Given the description of an element on the screen output the (x, y) to click on. 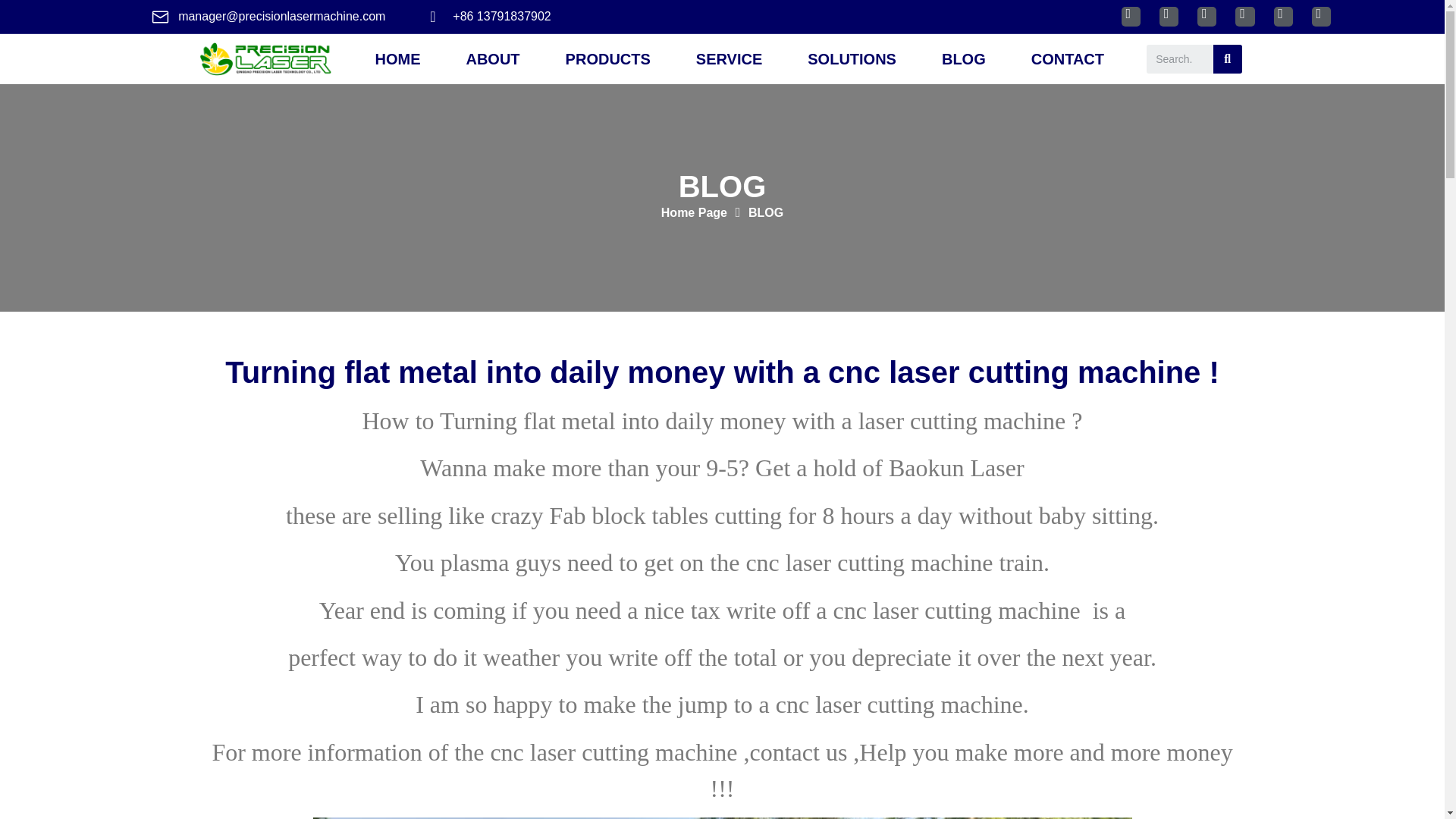
HOME (397, 58)
CONTACT (1067, 58)
ABOUT (491, 58)
Search (1179, 59)
Home Page (693, 212)
PRODUCTS (607, 58)
BLOG (963, 58)
Search (1226, 59)
SERVICE (728, 58)
SOLUTIONS (851, 58)
